Given the description of an element on the screen output the (x, y) to click on. 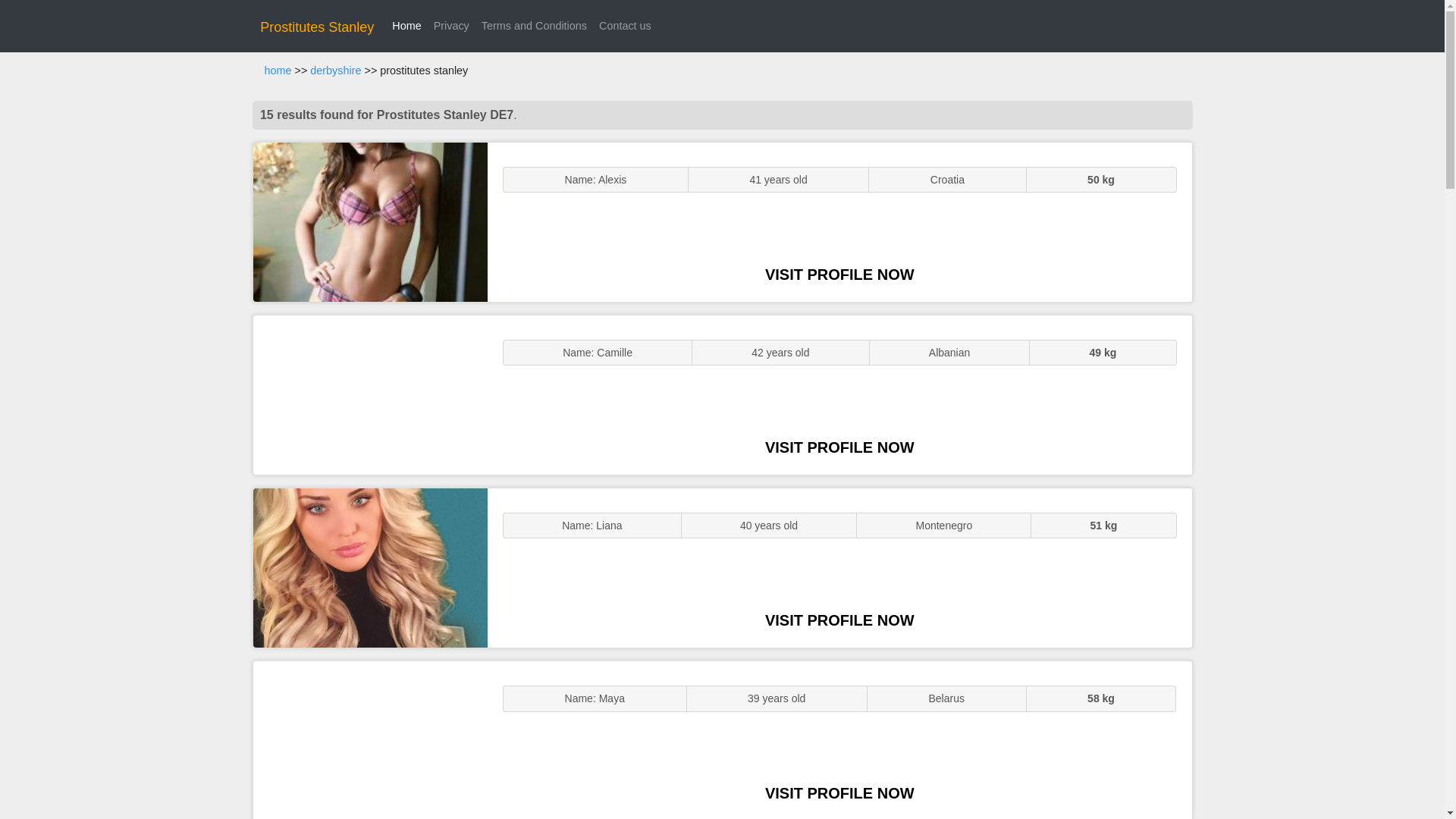
Privacy (452, 25)
Sluts (370, 739)
VISIT PROFILE NOW (839, 792)
home (277, 70)
Prostitutes Stanley (317, 27)
 ENGLISH STUNNER (370, 222)
Sexy (370, 567)
GFE (370, 395)
VISIT PROFILE NOW (839, 619)
Terms and Conditions (534, 25)
